Given the description of an element on the screen output the (x, y) to click on. 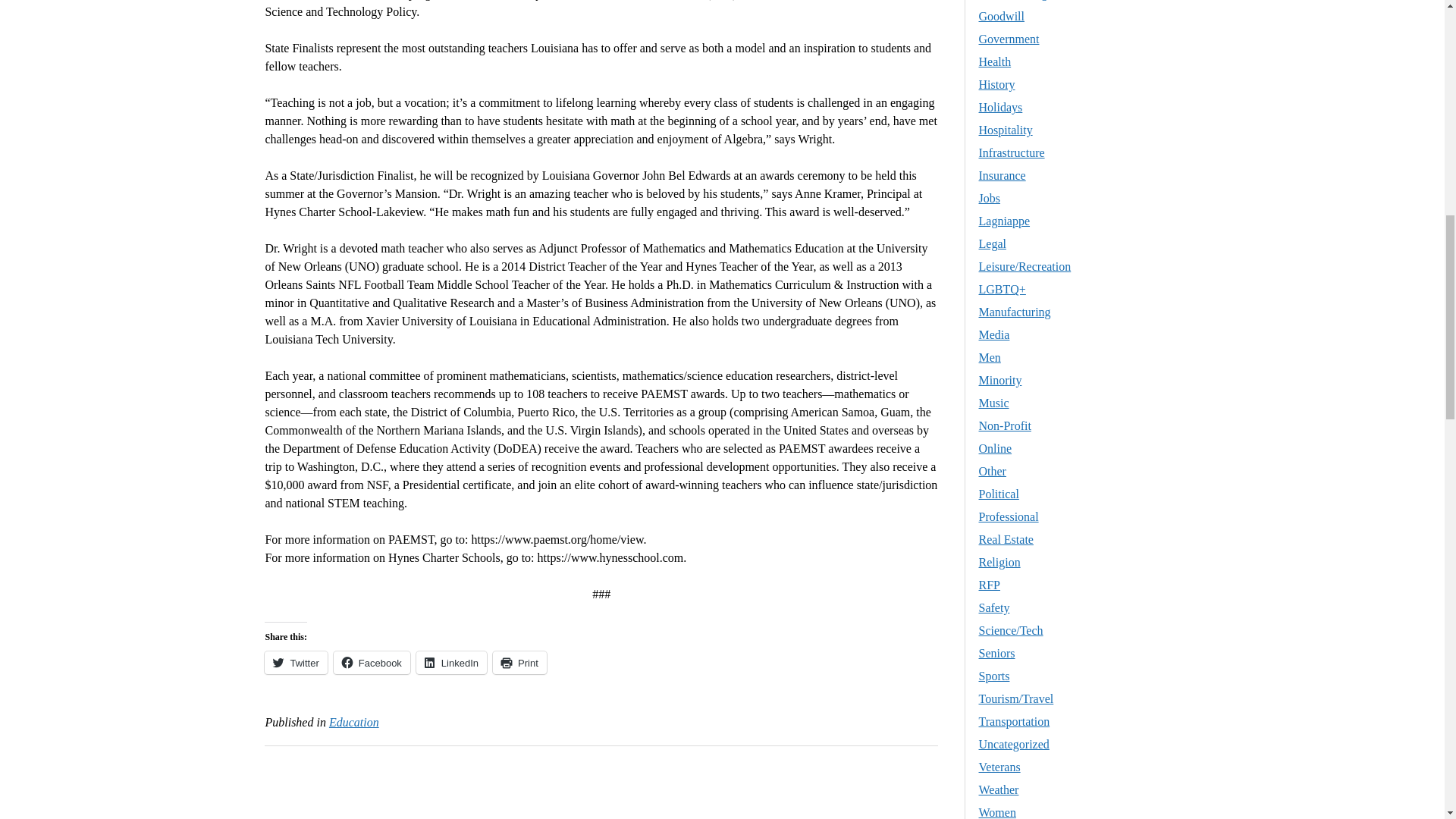
View all posts in Education (353, 721)
Click to print (520, 662)
Click to share on Twitter (295, 662)
Click to share on Facebook (371, 662)
Click to share on LinkedIn (451, 662)
